Given the description of an element on the screen output the (x, y) to click on. 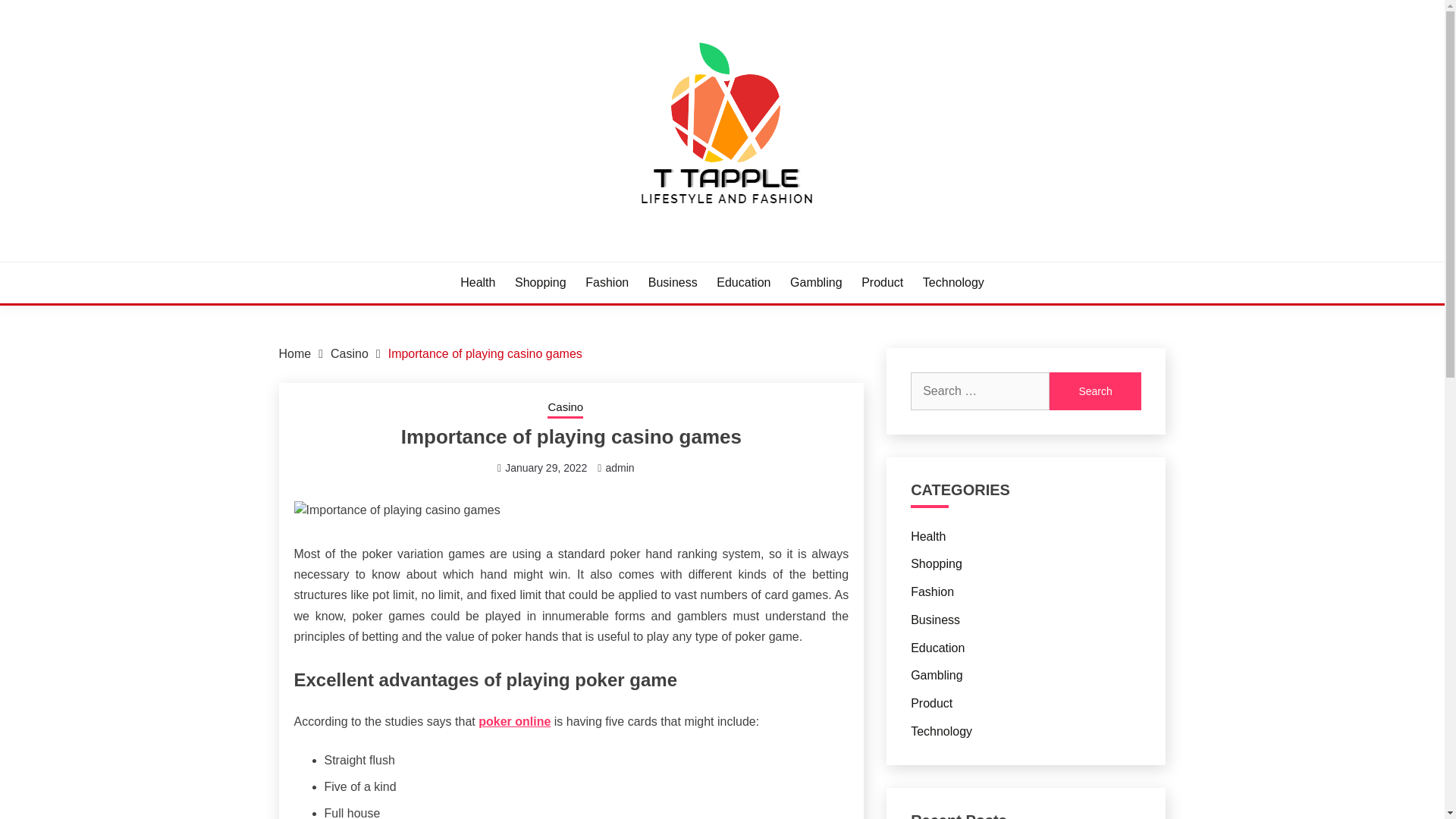
Gambling (815, 282)
Shopping (540, 282)
Business (935, 619)
Fashion (606, 282)
Product (881, 282)
Search (1095, 391)
admin (619, 467)
Technology (953, 282)
Search (1095, 391)
Gambling (936, 675)
